Given the description of an element on the screen output the (x, y) to click on. 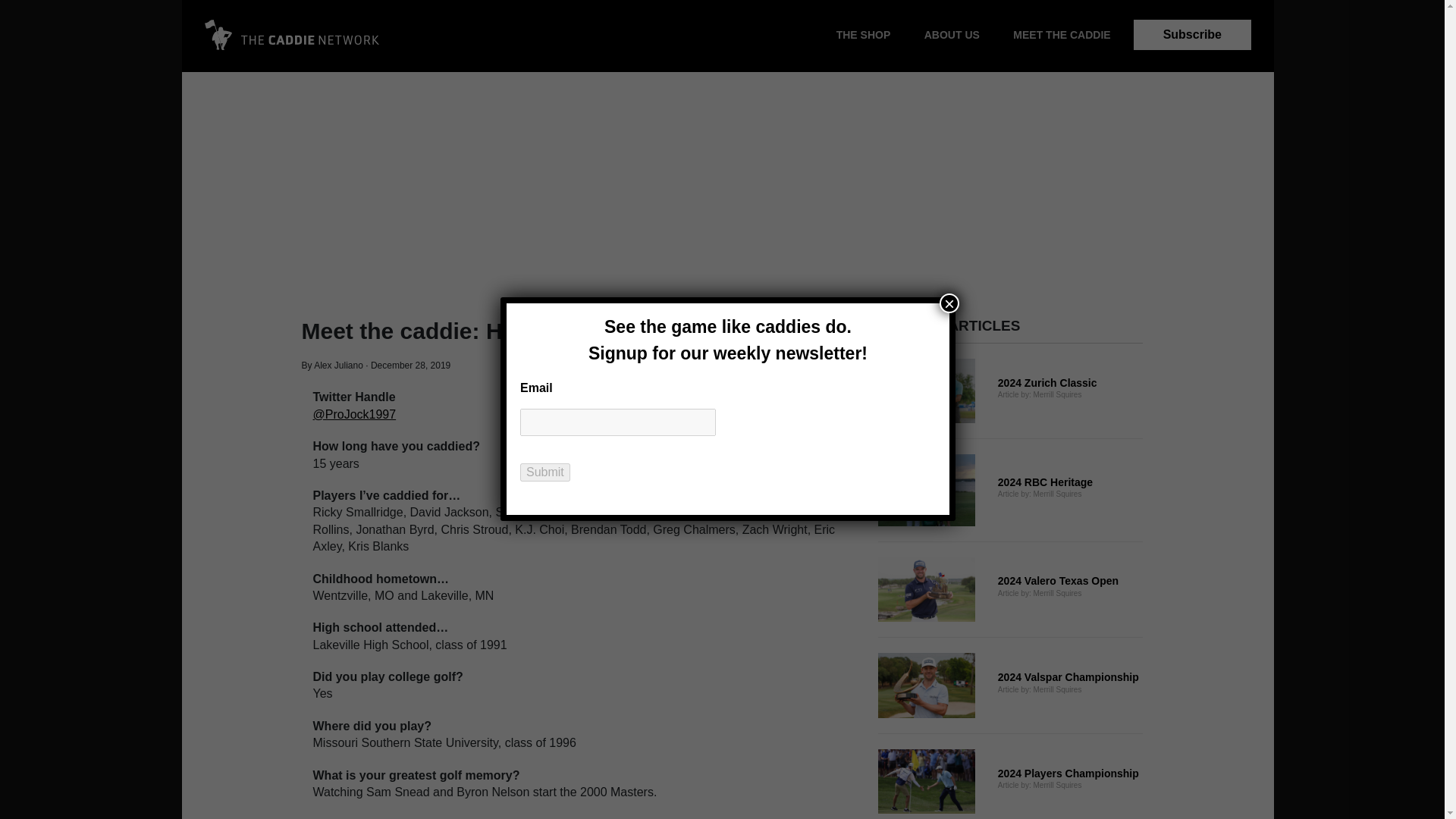
ABOUT US (1010, 589)
2024 Zurich Classic (951, 35)
2024 RBC Heritage (1010, 391)
2024 Players Championship (1010, 489)
Subscribe (1010, 685)
THE SHOP (1010, 781)
2024 Valero Texas Open (1192, 34)
MEET THE CADDIE (863, 35)
